Given the description of an element on the screen output the (x, y) to click on. 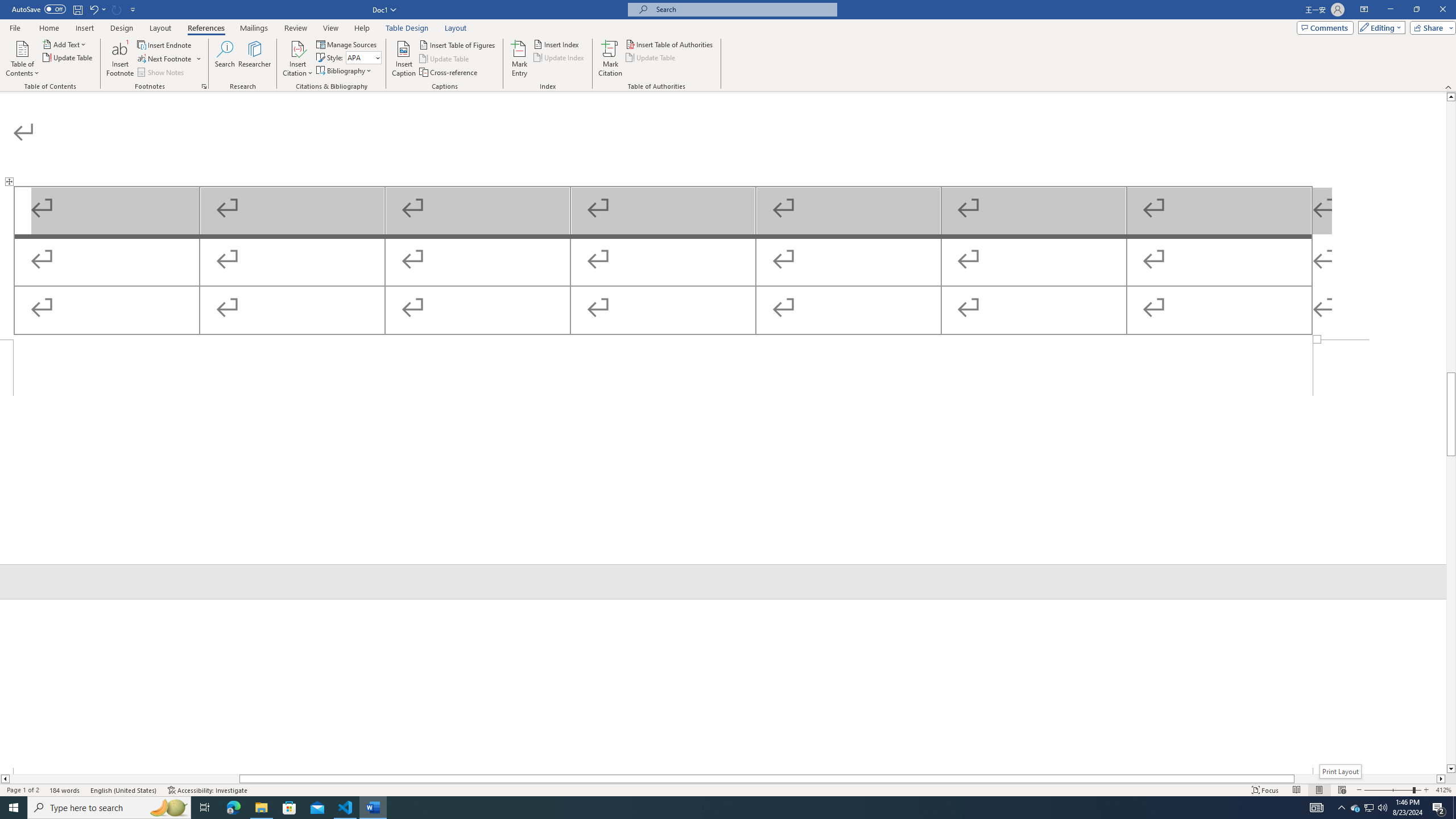
Mark Entry... (519, 58)
Researcher (254, 58)
Style (360, 57)
Update Table... (68, 56)
Undo Outline Move Up (92, 9)
Mark Citation... (610, 58)
Insert Endnote (165, 44)
